Given the description of an element on the screen output the (x, y) to click on. 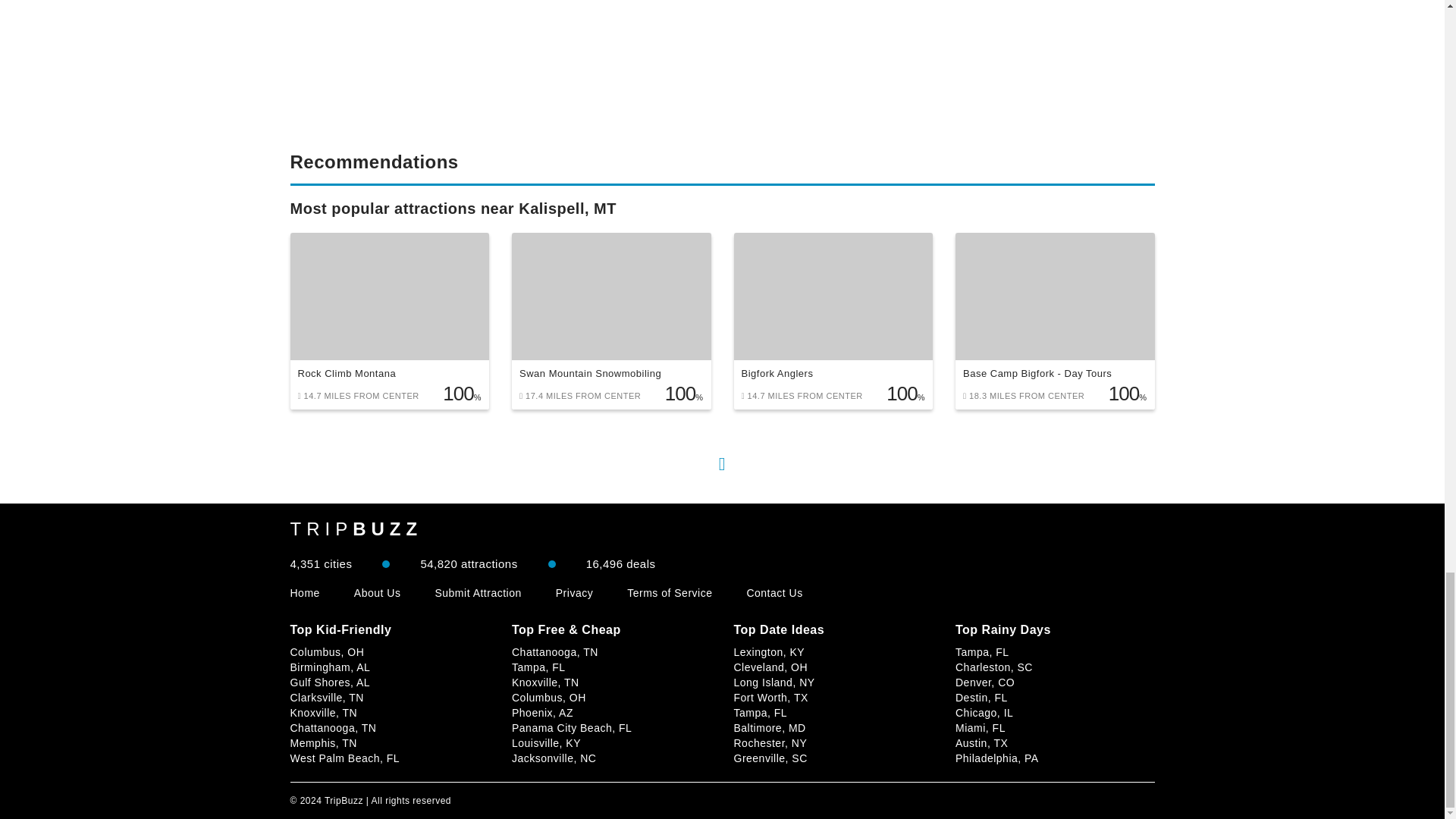
Privacy (574, 592)
About (377, 592)
About Us (377, 592)
Terms of Service (669, 592)
Home (303, 592)
TRIPBUZZ (355, 529)
Submit Attraction (477, 592)
